Given the description of an element on the screen output the (x, y) to click on. 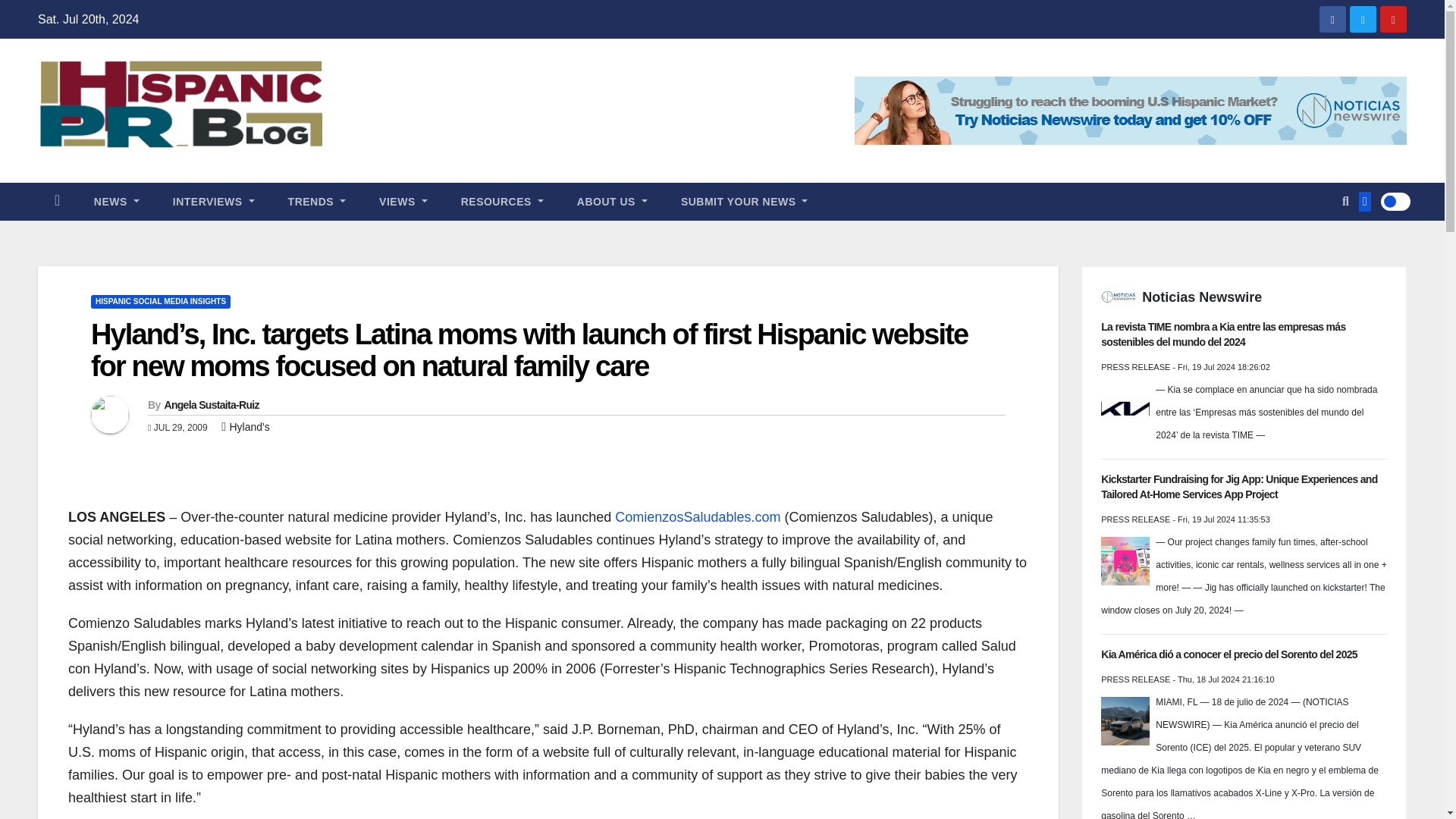
RESOURCES (502, 201)
TRENDS (316, 201)
NEWS (116, 201)
Interviews (212, 201)
News (116, 201)
VIEWS (403, 201)
INTERVIEWS (212, 201)
Trends (316, 201)
Views (403, 201)
Home (57, 201)
